Given the description of an element on the screen output the (x, y) to click on. 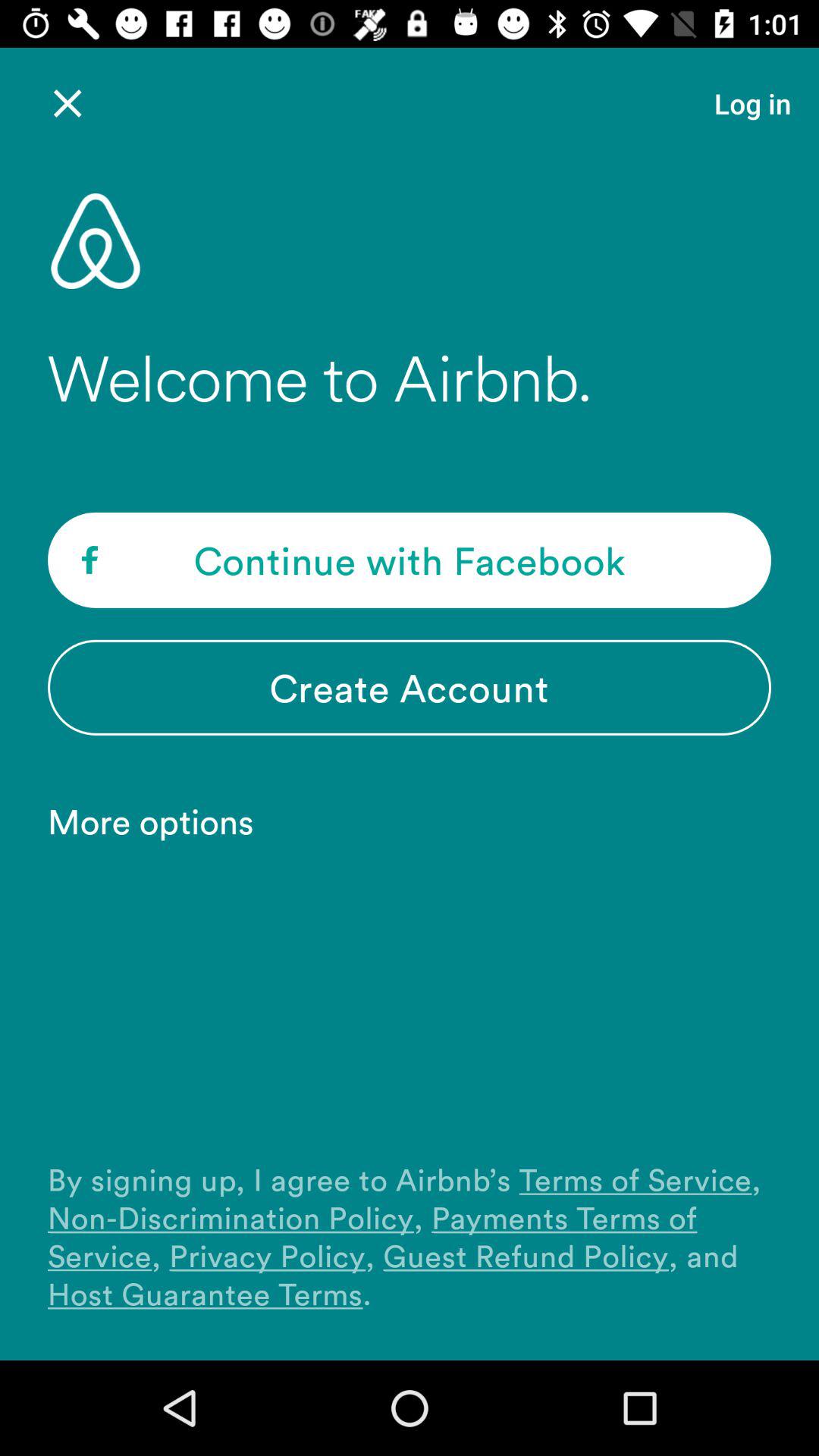
turn off the item above the welcome to airbnb. icon (752, 103)
